Given the description of an element on the screen output the (x, y) to click on. 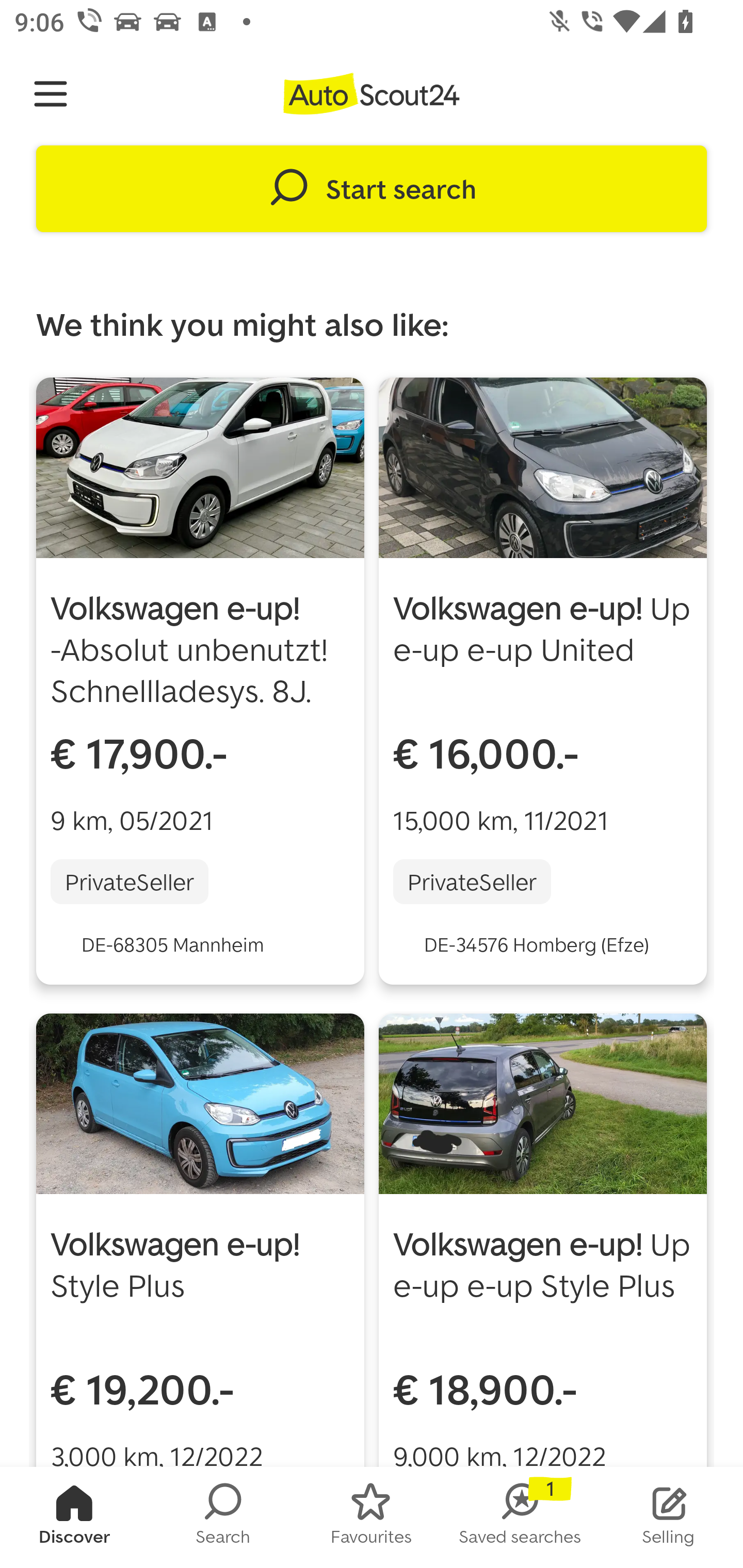
Navigate up (50, 93)
Start search (371, 188)
HOMESCREEN Discover (74, 1517)
SEARCH Search (222, 1517)
FAVORITES Favourites (371, 1517)
SAVED_SEARCHES Saved searches 1 (519, 1517)
STOCK_LIST Selling (668, 1517)
